Given the description of an element on the screen output the (x, y) to click on. 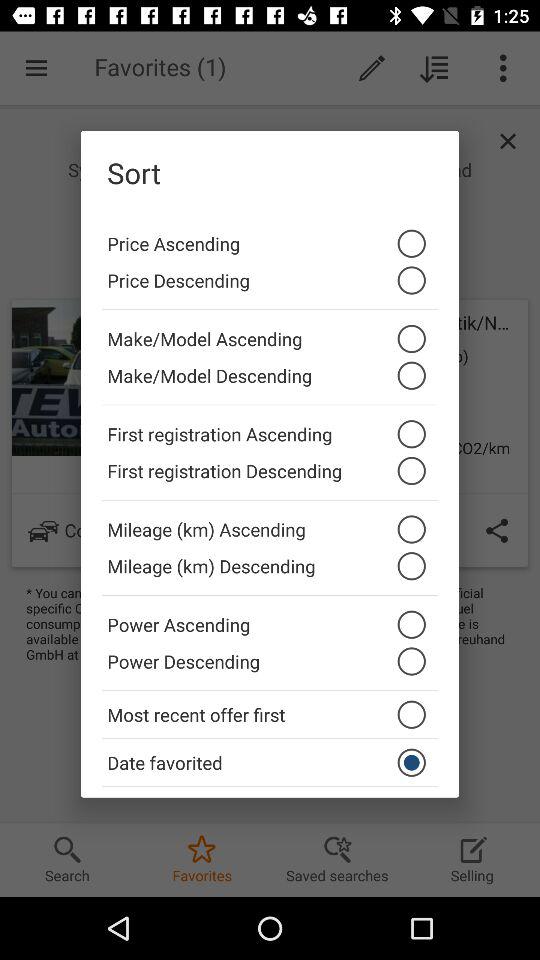
swipe to date favorited item (269, 762)
